Given the description of an element on the screen output the (x, y) to click on. 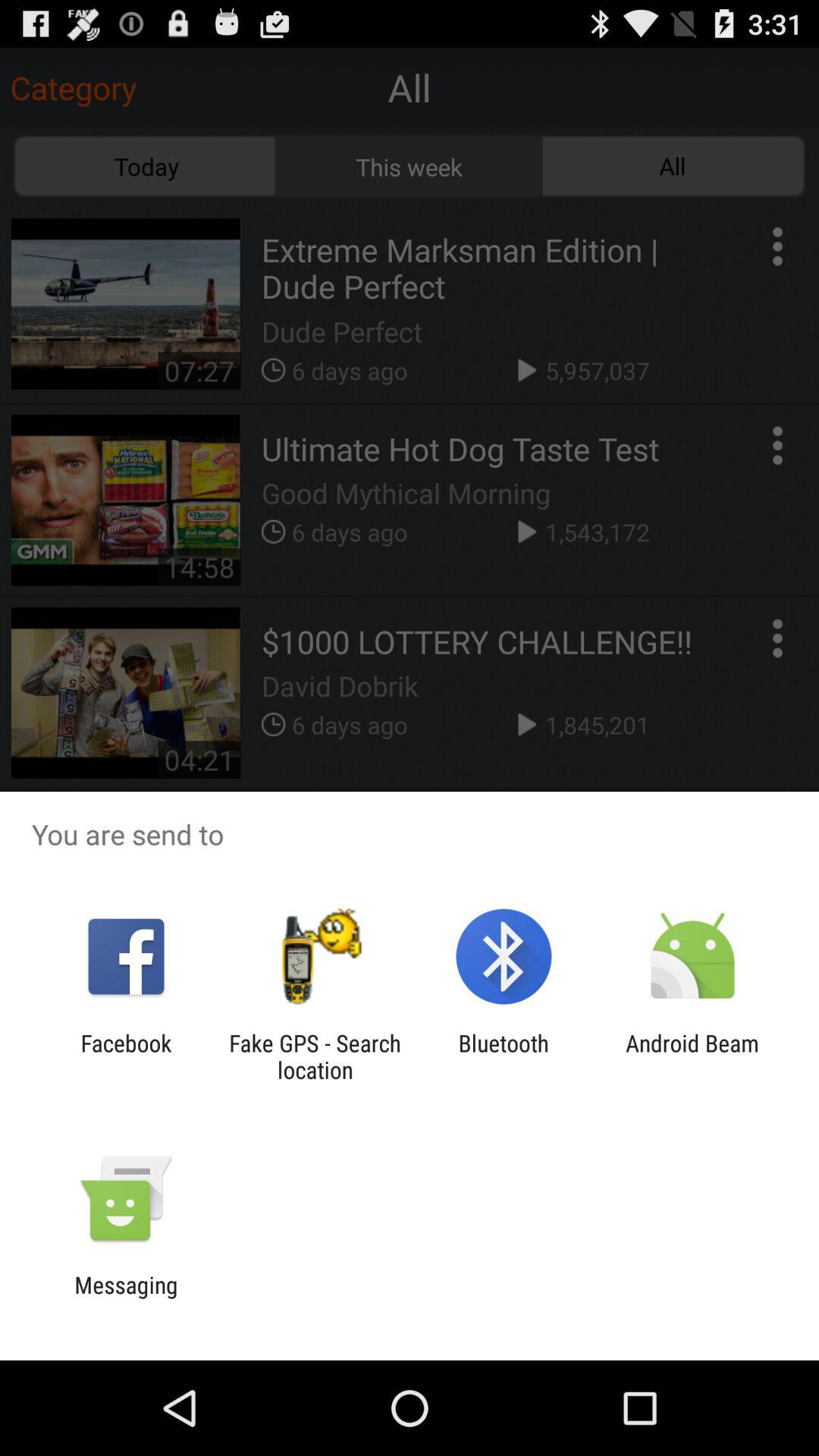
launch app next to bluetooth app (692, 1056)
